Given the description of an element on the screen output the (x, y) to click on. 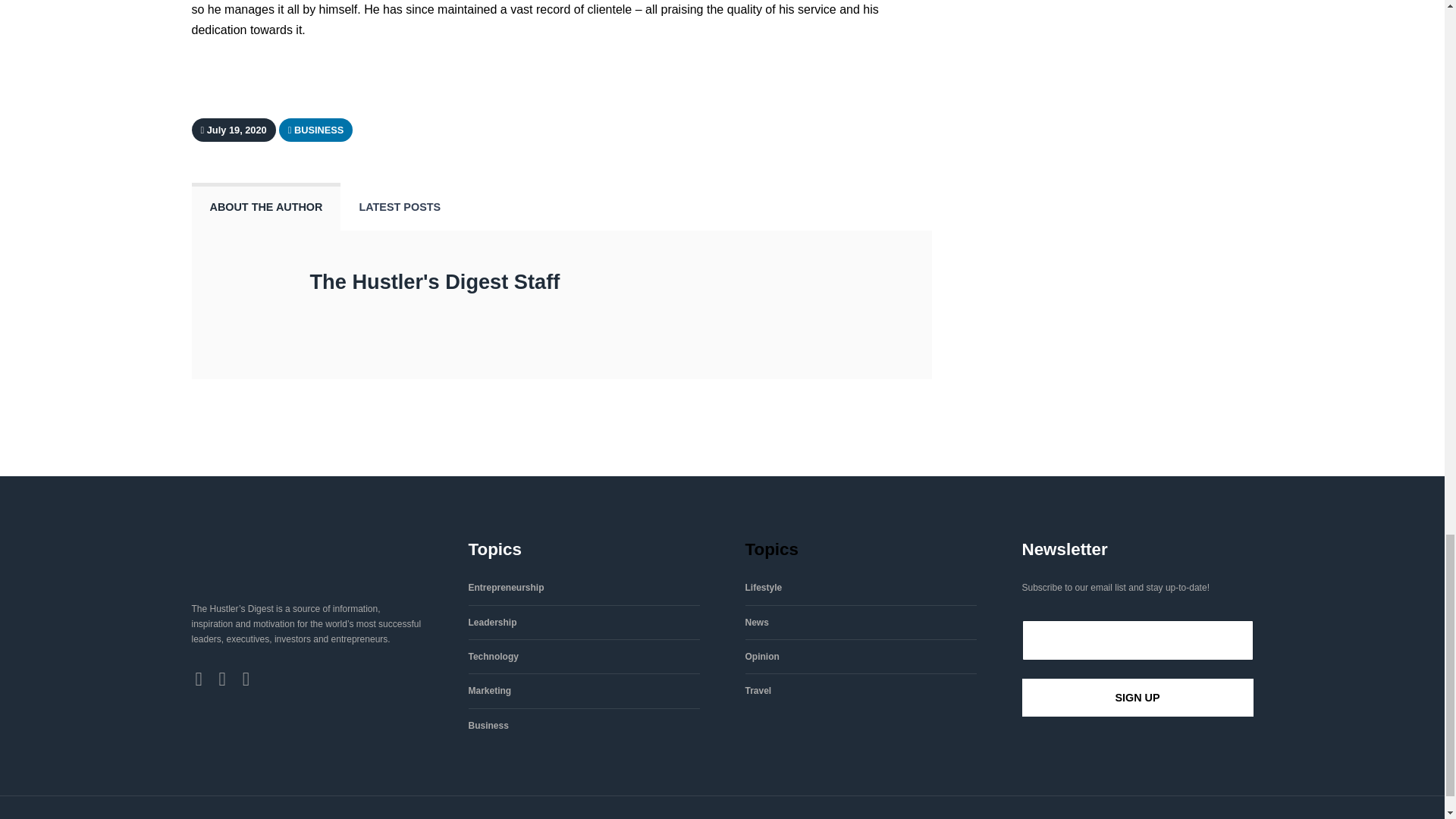
sign up (1137, 697)
ABOUT THE AUTHOR (265, 206)
BUSINESS (317, 128)
The Hustler's Digest Staff (433, 281)
LATEST POSTS (399, 206)
